Given the description of an element on the screen output the (x, y) to click on. 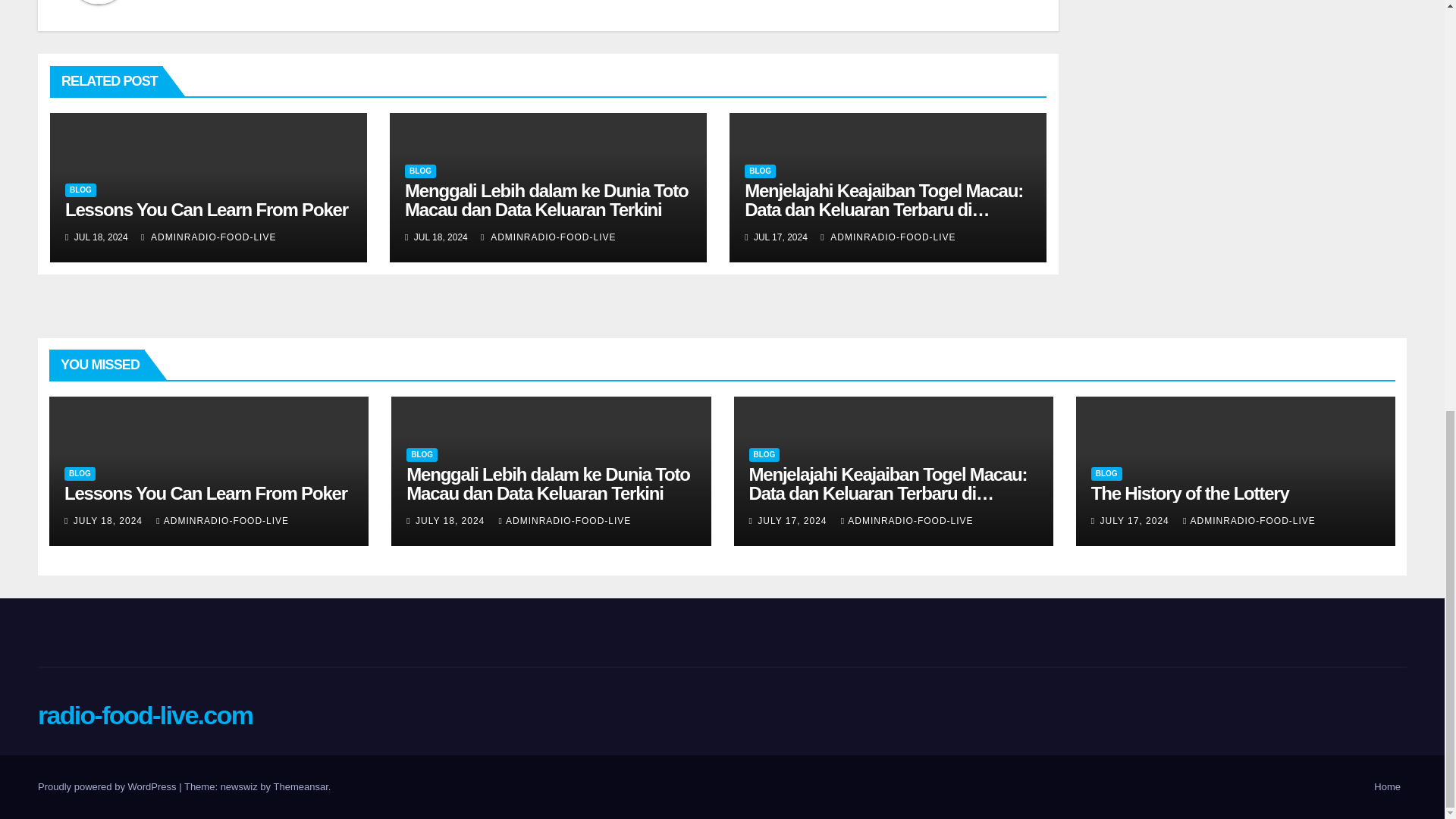
ADMINRADIO-FOOD-LIVE (547, 236)
Permalink to: Lessons You Can Learn From Poker (206, 209)
Permalink to: Lessons You Can Learn From Poker (205, 493)
ADMINRADIO-FOOD-LIVE (888, 236)
ADMINRADIO-FOOD-LIVE (208, 236)
Home (1387, 786)
BLOG (760, 171)
Permalink to: The History of the Lottery (1189, 493)
Lessons You Can Learn From Poker (206, 209)
BLOG (419, 171)
BLOG (80, 190)
